Given the description of an element on the screen output the (x, y) to click on. 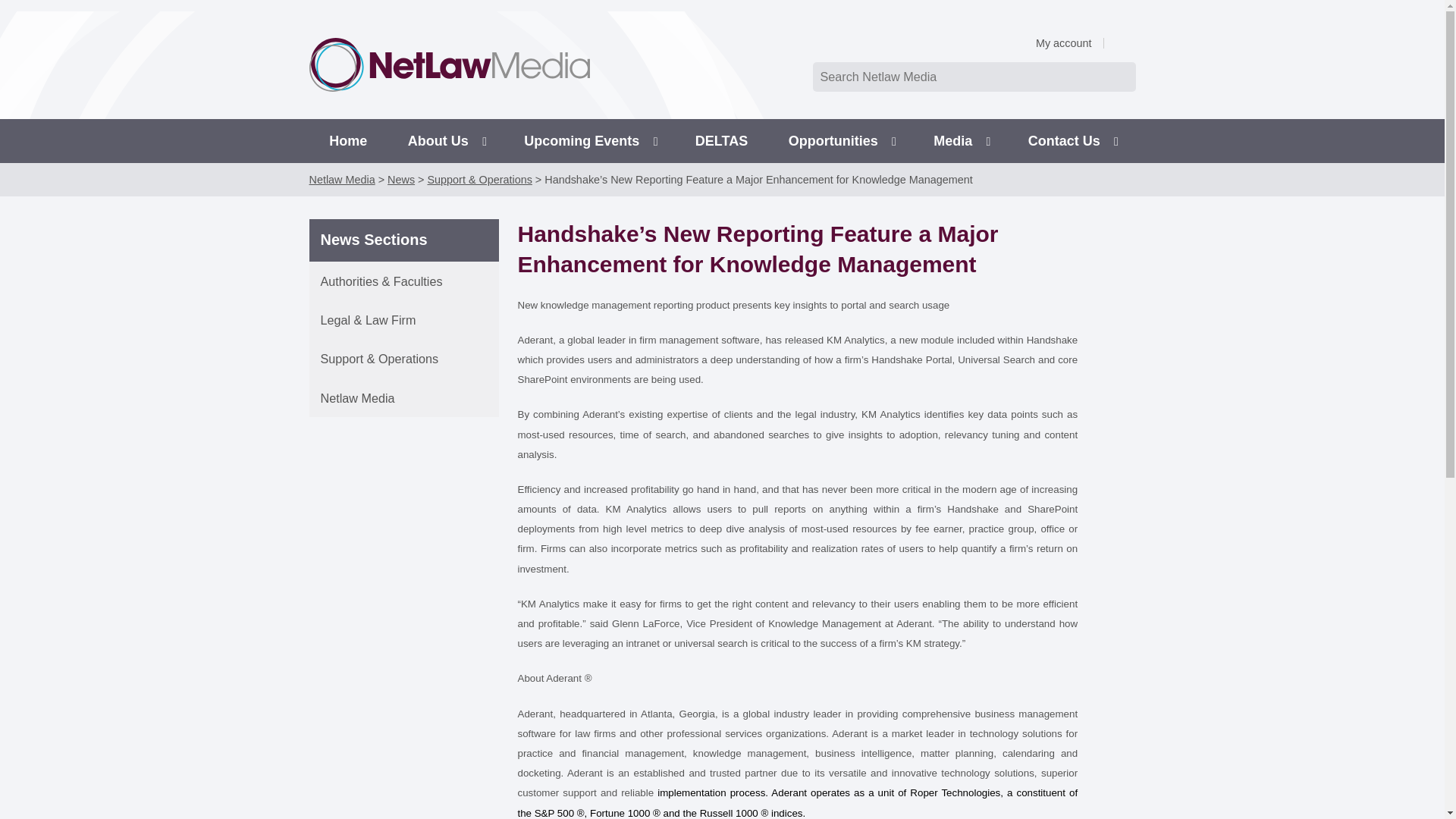
Media (959, 140)
Netlaw Media (341, 179)
Netlaw Media (403, 397)
Go to the News category archives. (400, 179)
DELTAS (721, 140)
About Us (445, 140)
Home (348, 140)
My account (1069, 42)
Contact Us (1071, 140)
News (400, 179)
Go to Netlaw Media. (341, 179)
Upcoming Events (589, 140)
Opportunities (841, 140)
